Given the description of an element on the screen output the (x, y) to click on. 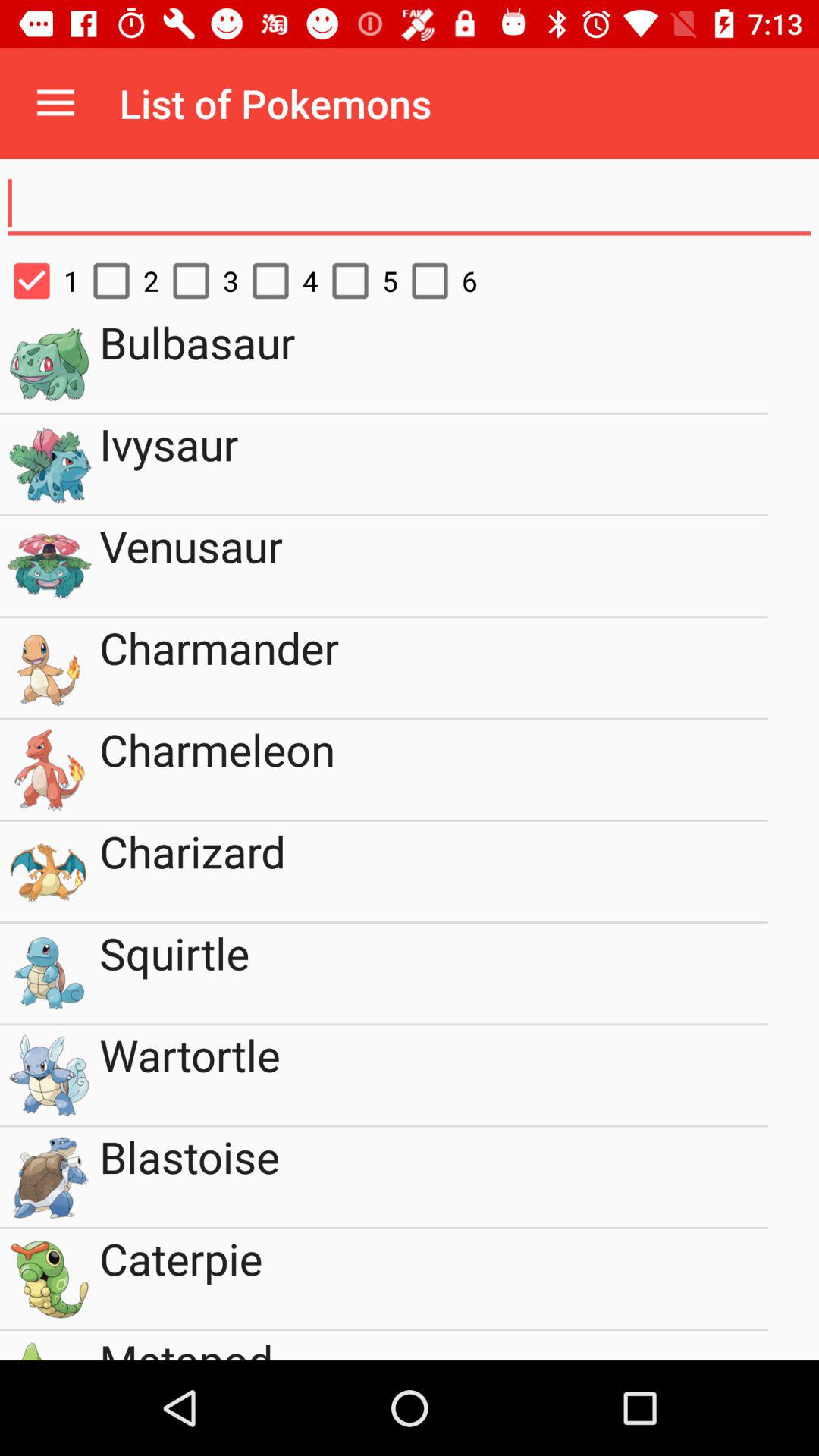
tap the icon below 2 (433, 362)
